Given the description of an element on the screen output the (x, y) to click on. 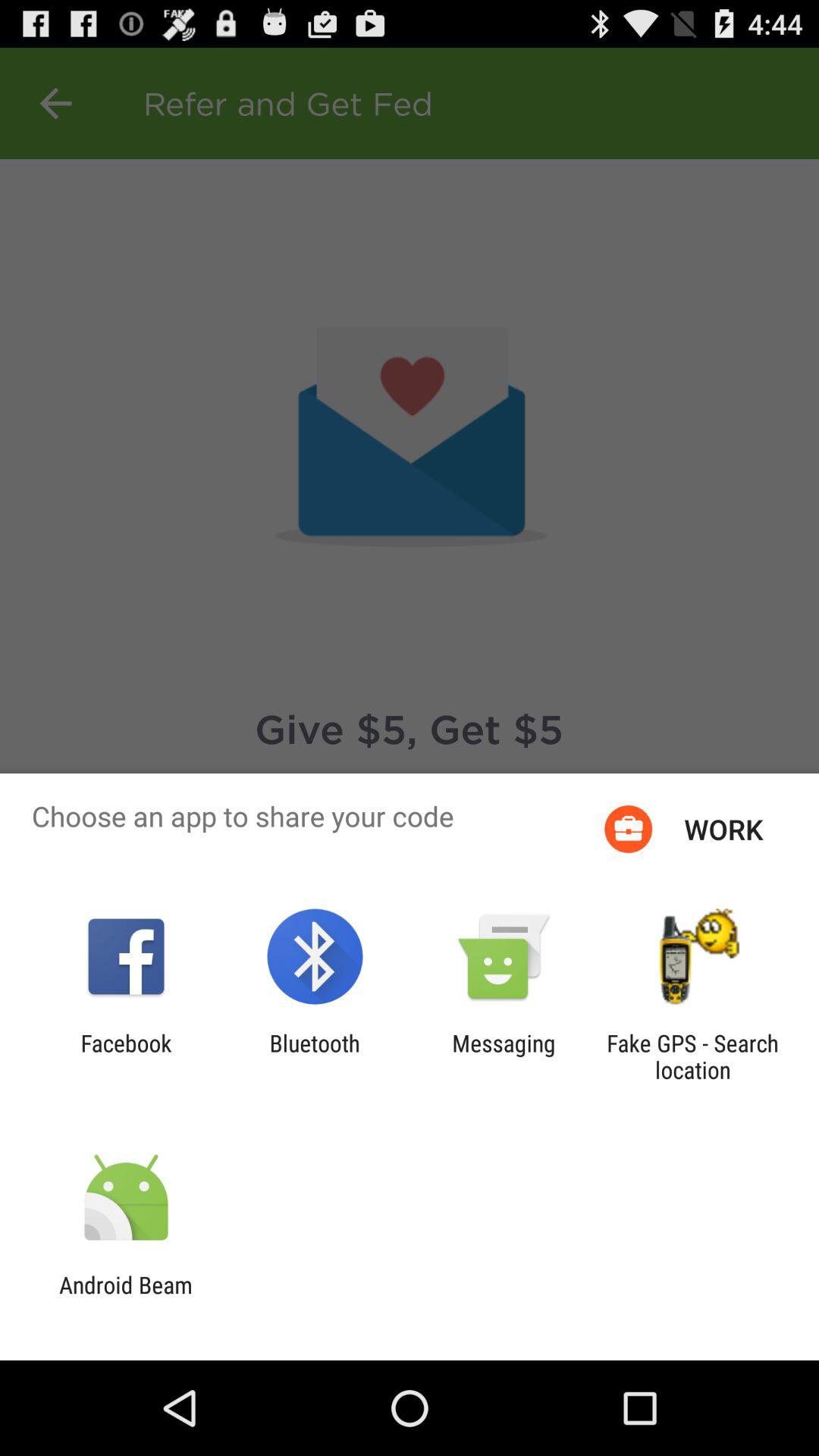
swipe to fake gps search app (692, 1056)
